Given the description of an element on the screen output the (x, y) to click on. 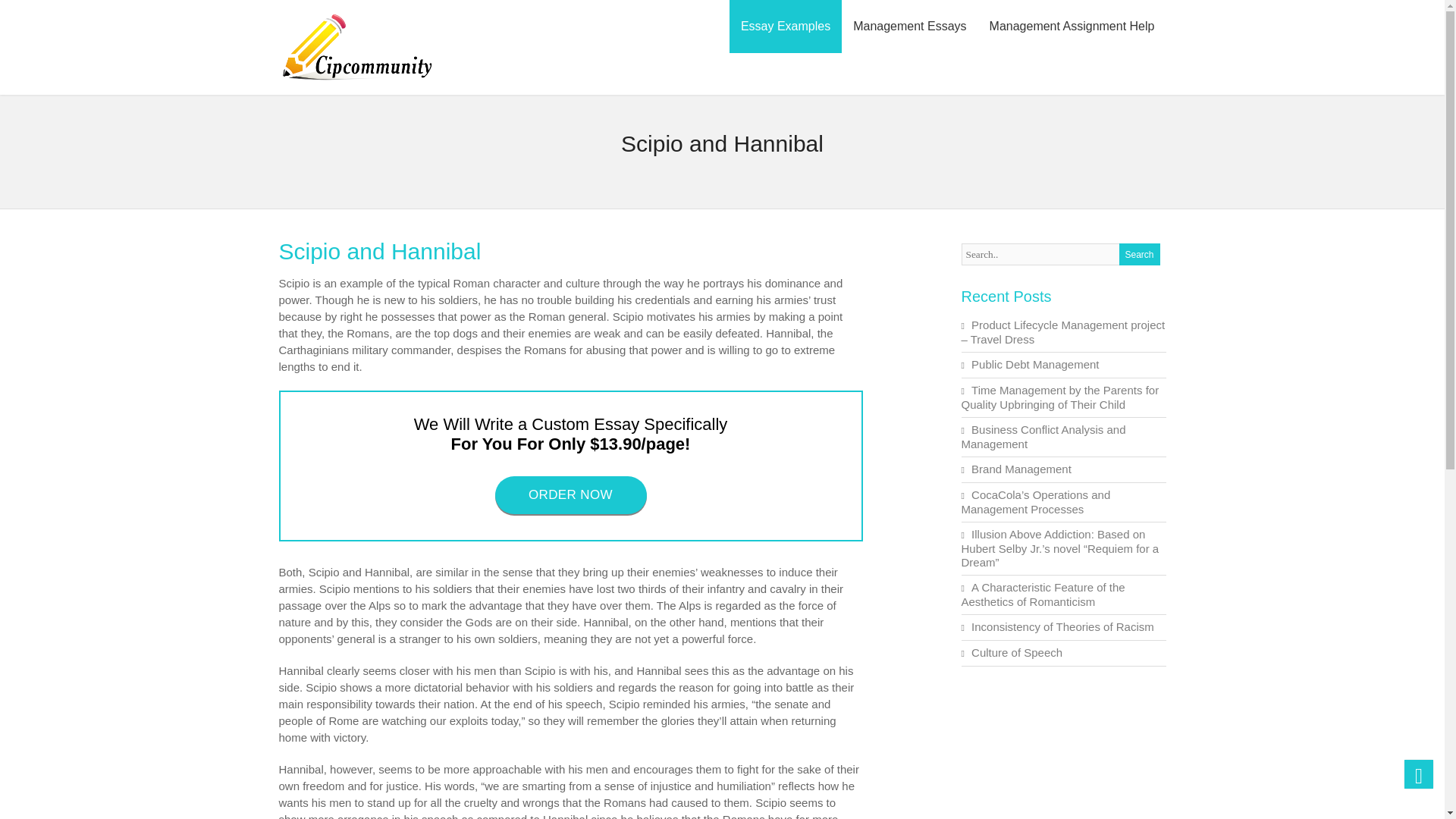
Culture of Speech (1016, 652)
A Characteristic Feature of the Aesthetics of Romanticism (1042, 594)
ORDER NOW (570, 494)
Management Essays (908, 26)
Public Debt Management (1035, 364)
Brand Management (1021, 468)
Business Conflict Analysis and Management (1042, 436)
Search (1139, 254)
Back To Top (1418, 774)
Management Assignment Help (1072, 26)
Cipcommunity (357, 81)
Essay Examples (785, 26)
Search (1139, 254)
Inconsistency of Theories of Racism (1062, 626)
